Given the description of an element on the screen output the (x, y) to click on. 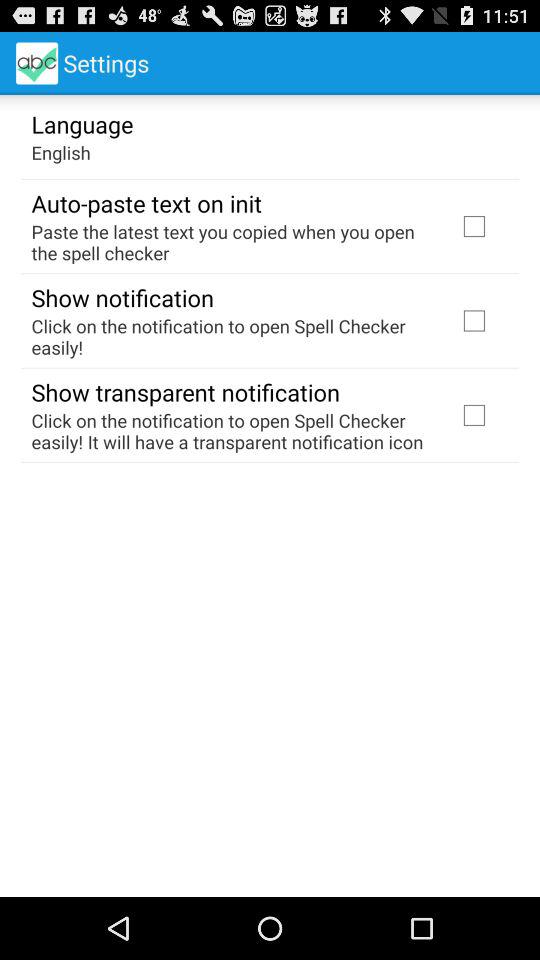
launch item at the top (231, 242)
